Given the description of an element on the screen output the (x, y) to click on. 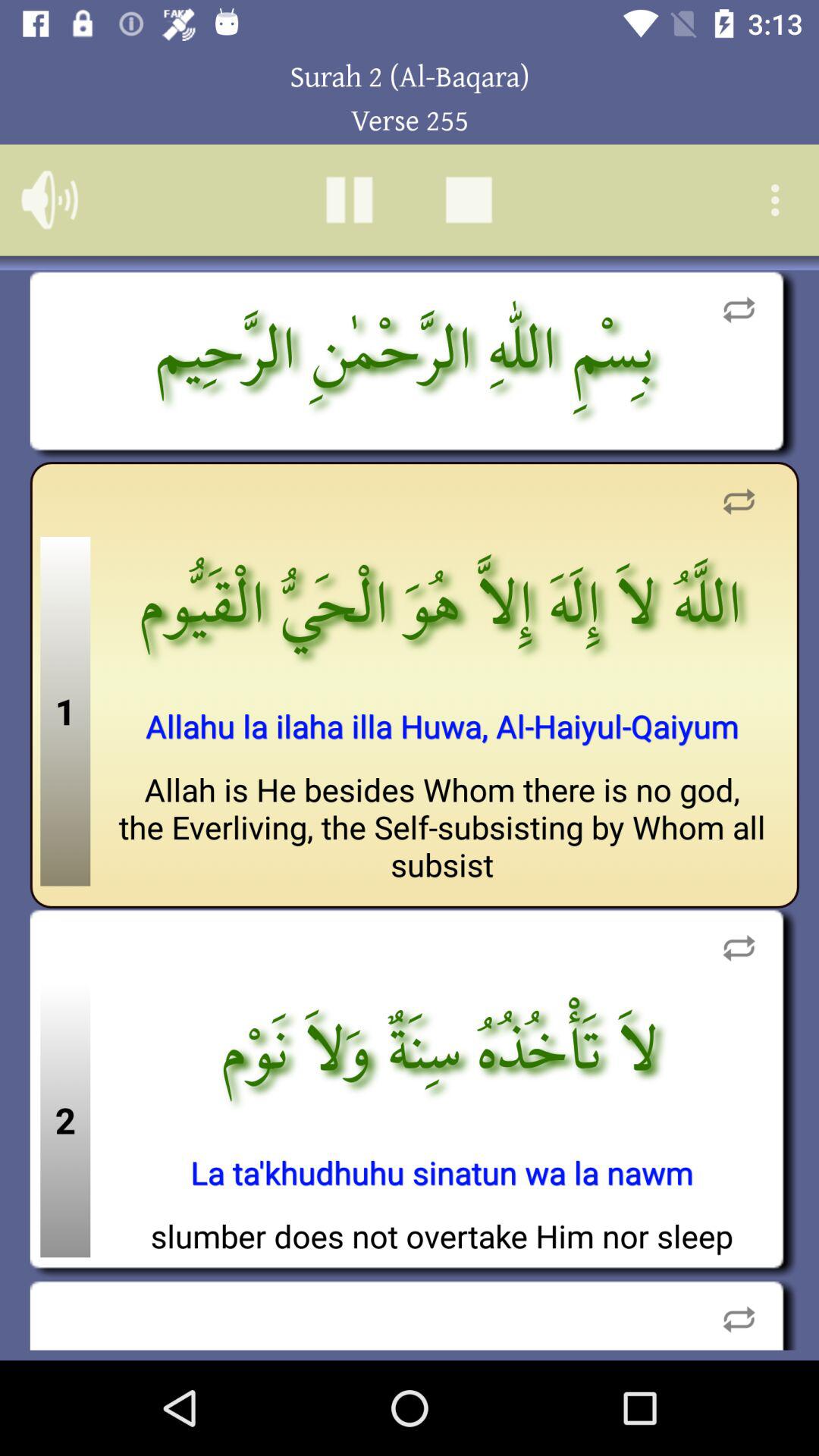
refresh area (738, 947)
